Given the description of an element on the screen output the (x, y) to click on. 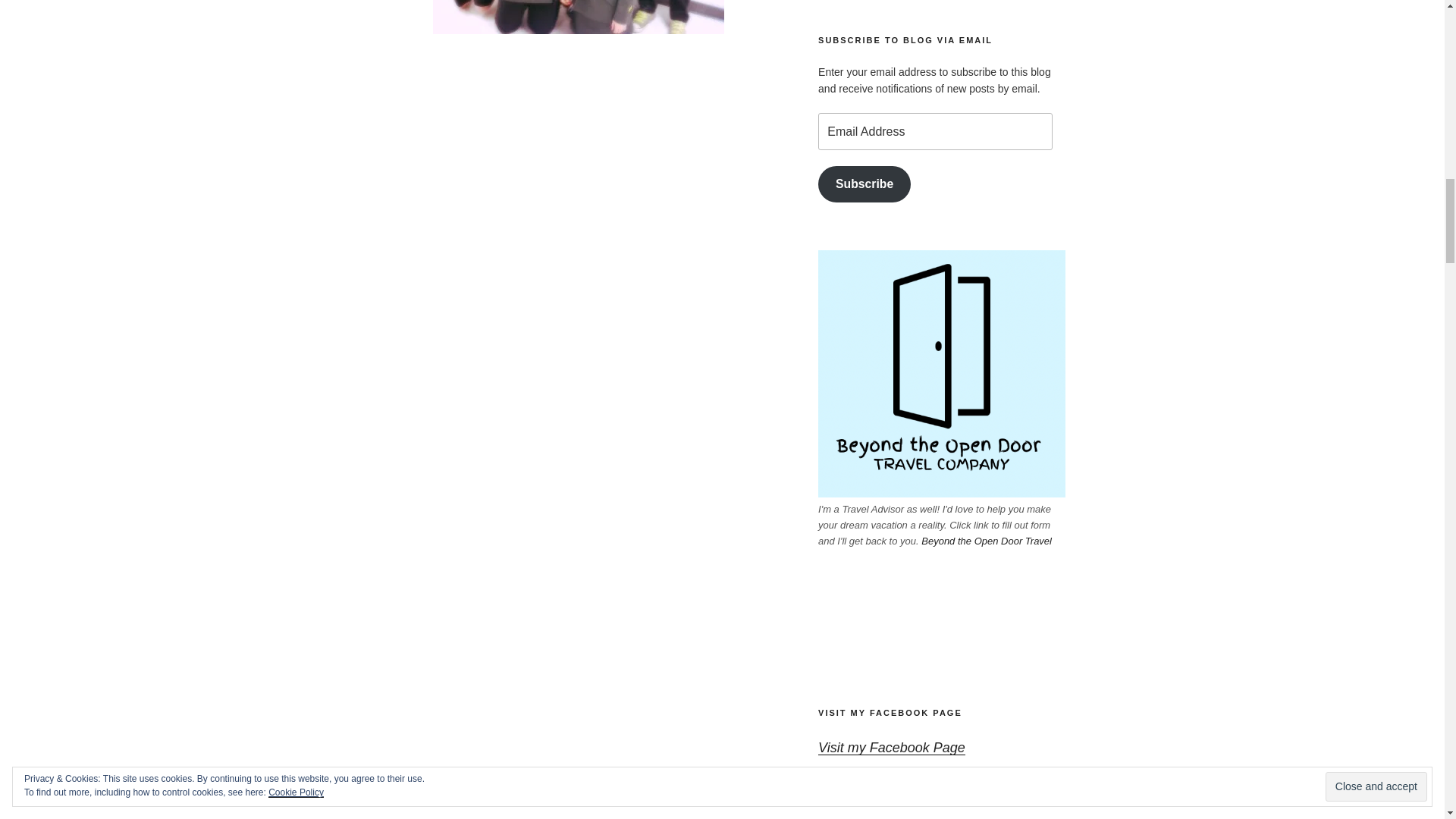
Beyond the Open Door Travel (986, 541)
Visit my Facebook Page (891, 747)
VISIT MY FACEBOOK PAGE (890, 712)
Subscribe (864, 184)
